Given the description of an element on the screen output the (x, y) to click on. 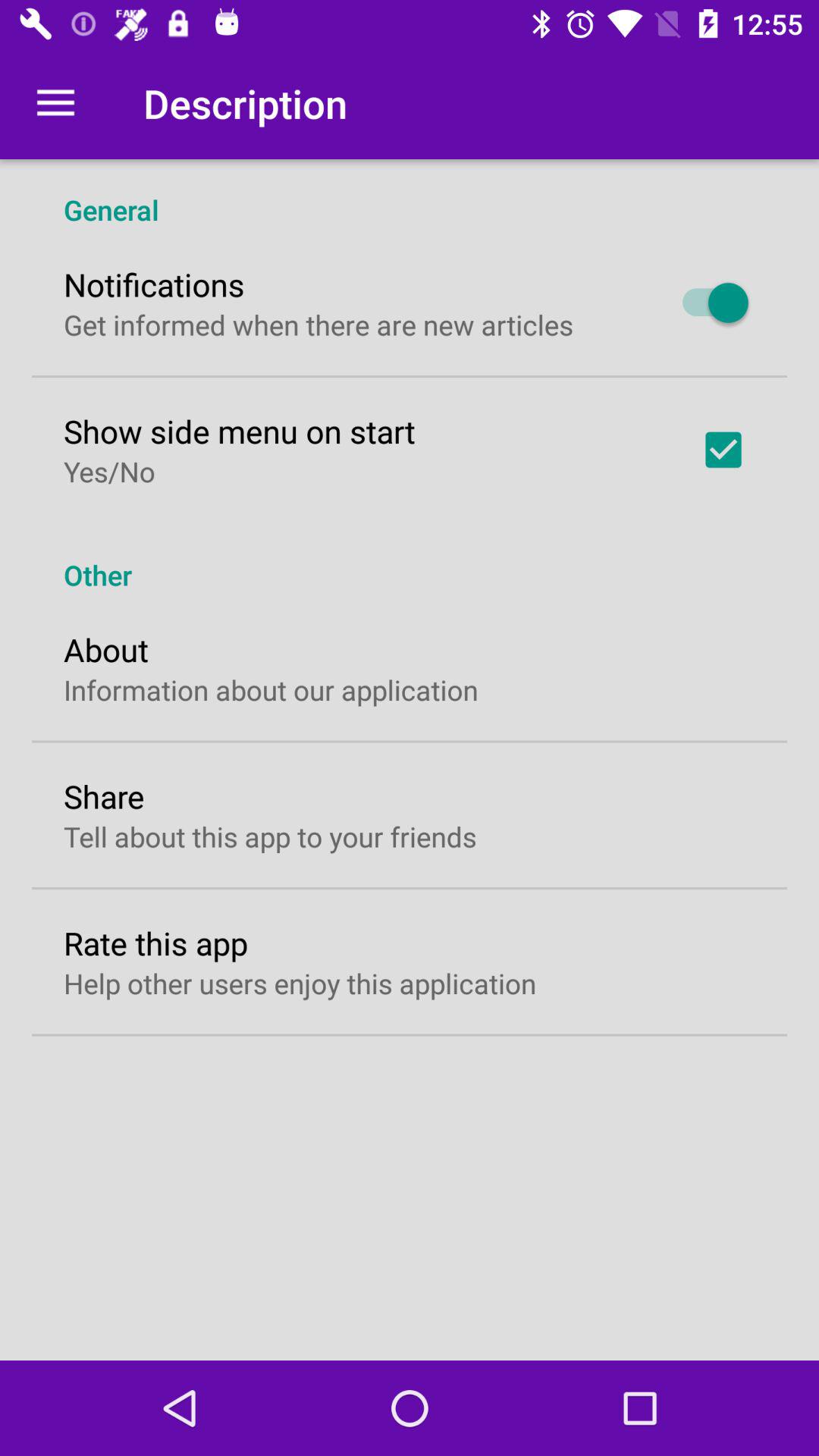
tap the icon to the right of the get informed when (707, 302)
